Given the description of an element on the screen output the (x, y) to click on. 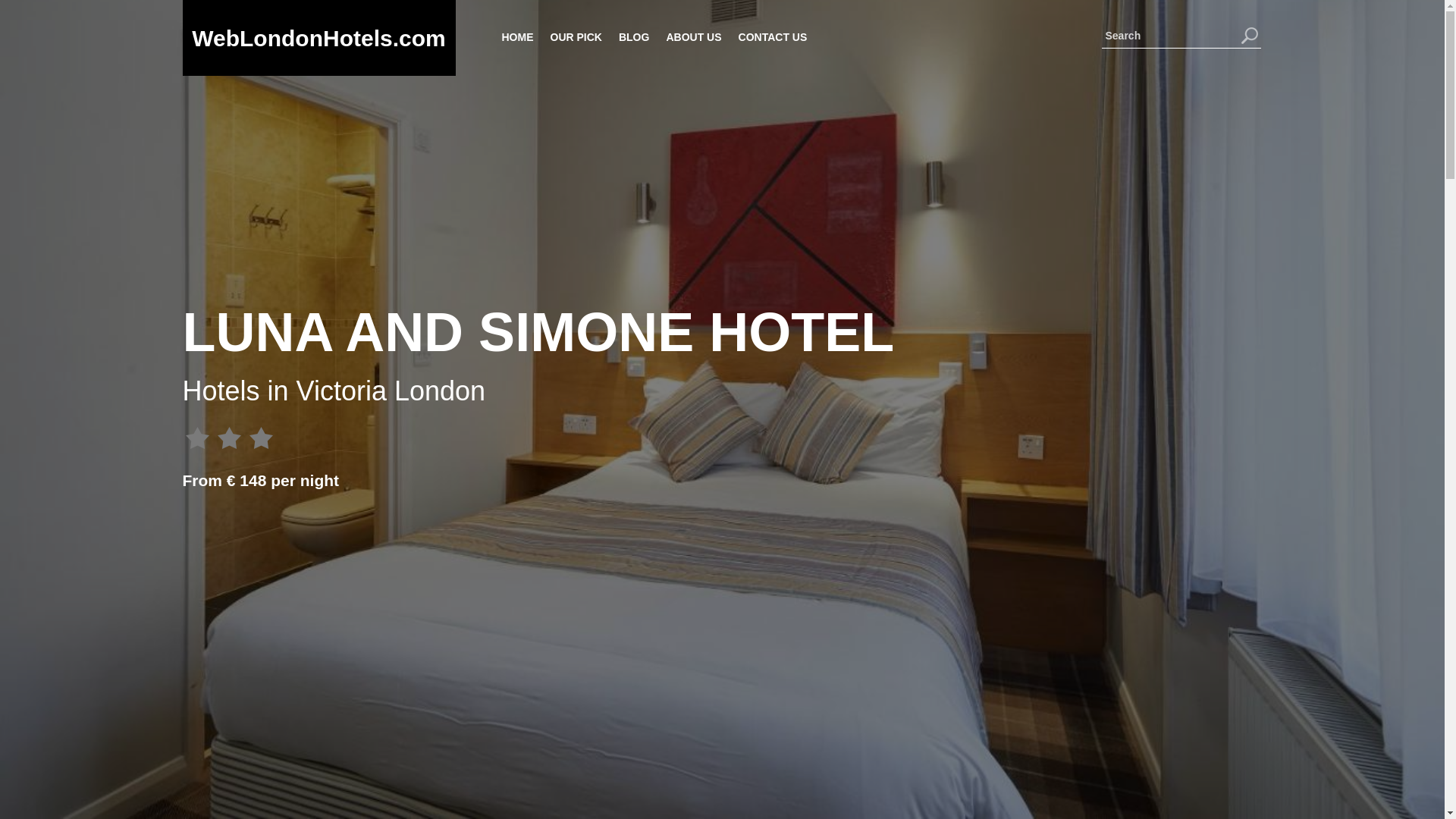
WebLondonHotels.com (318, 38)
BLOG (632, 35)
About Us (693, 35)
ABOUT US (693, 35)
HOME (517, 35)
OUR PICK (575, 35)
CONTACT US (772, 35)
Blog (632, 35)
Our pick (575, 35)
Home (517, 35)
